Given the description of an element on the screen output the (x, y) to click on. 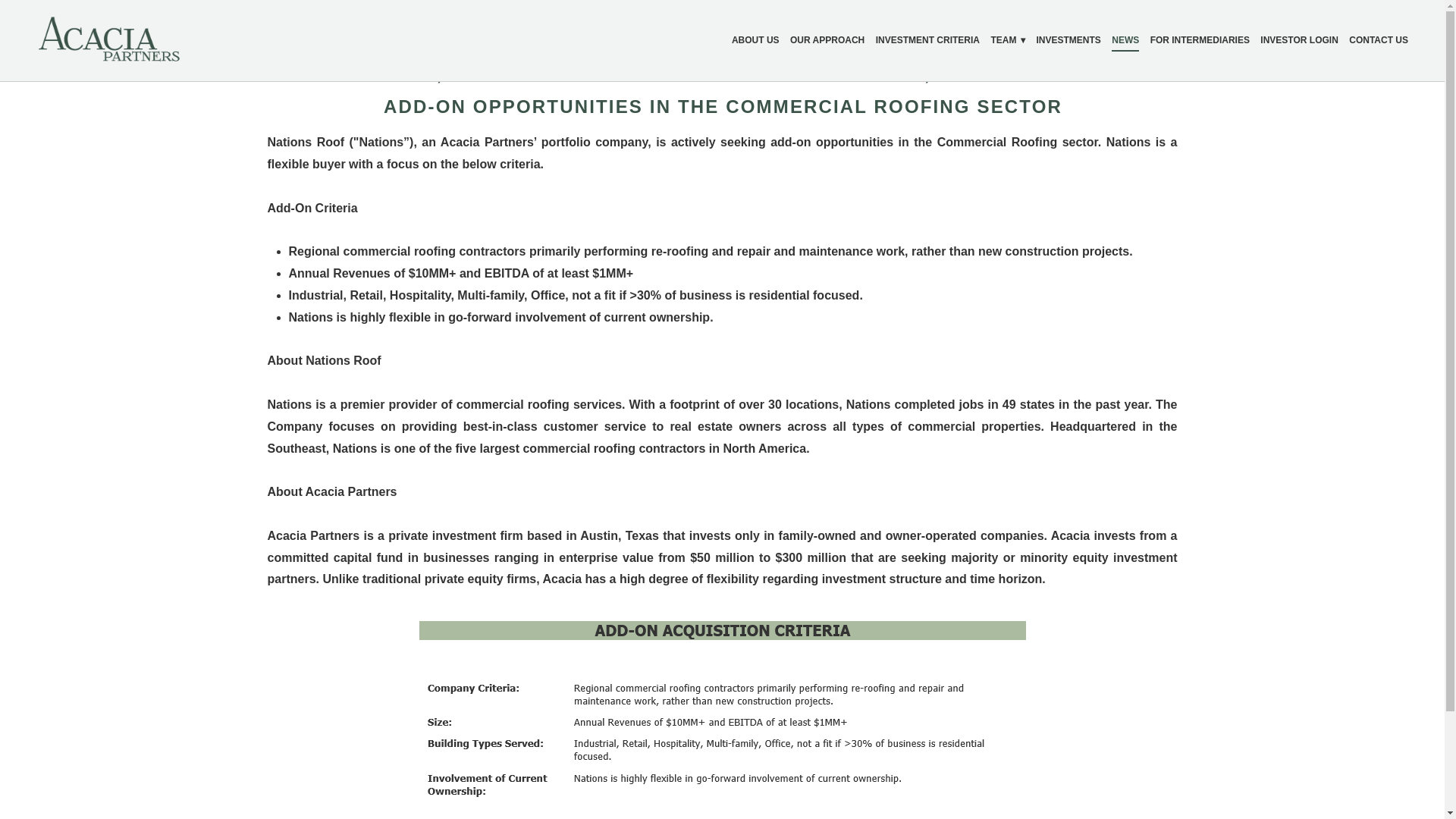
INVESTOR LOGIN (1299, 40)
FOR INTERMEDIARIES (1199, 40)
ABOUT US (755, 40)
NEWS (1125, 40)
CONTACT US (1378, 40)
INVESTMENT CRITERIA (927, 40)
INVESTMENTS (1067, 40)
Acacia Partners, LLC (109, 39)
OUR APPROACH (827, 40)
